Given the description of an element on the screen output the (x, y) to click on. 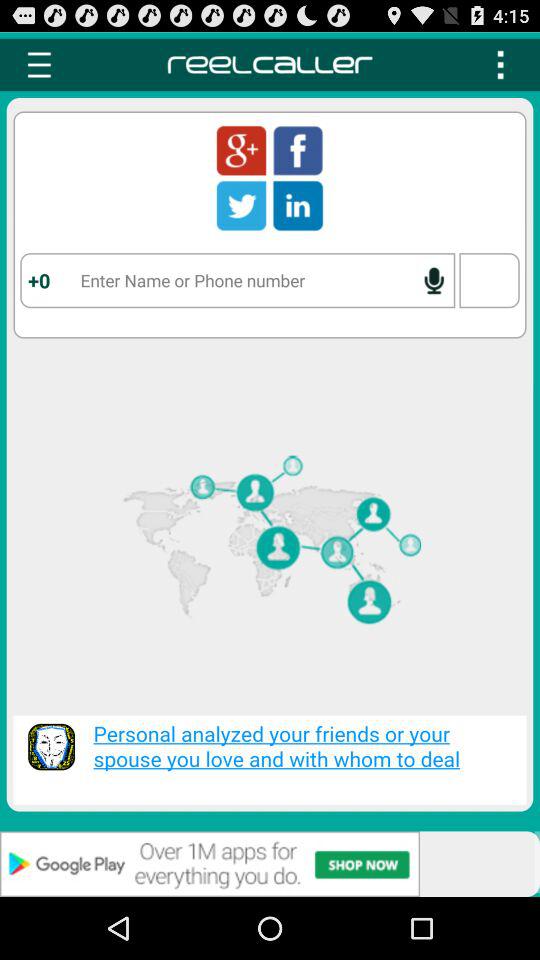
go to facebook (297, 150)
